Given the description of an element on the screen output the (x, y) to click on. 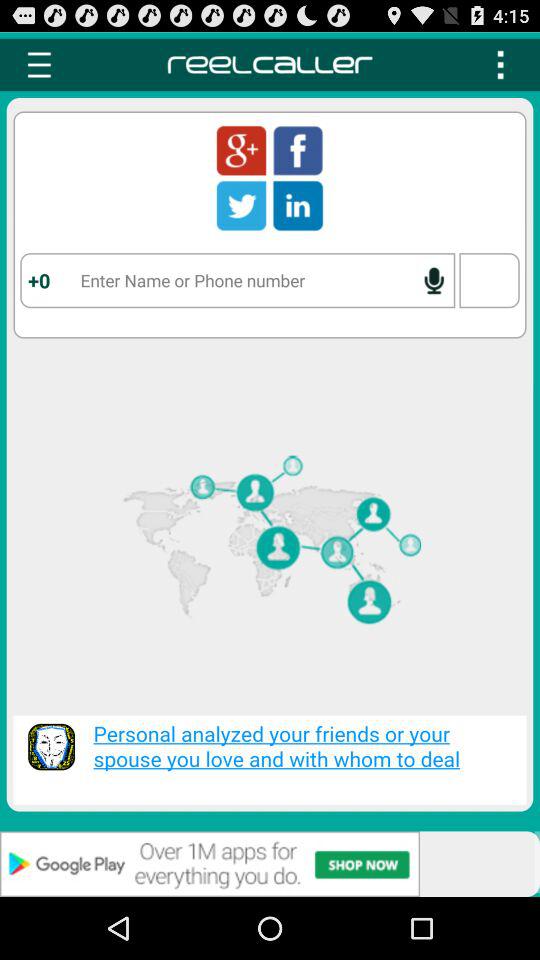
go to facebook (297, 150)
